Given the description of an element on the screen output the (x, y) to click on. 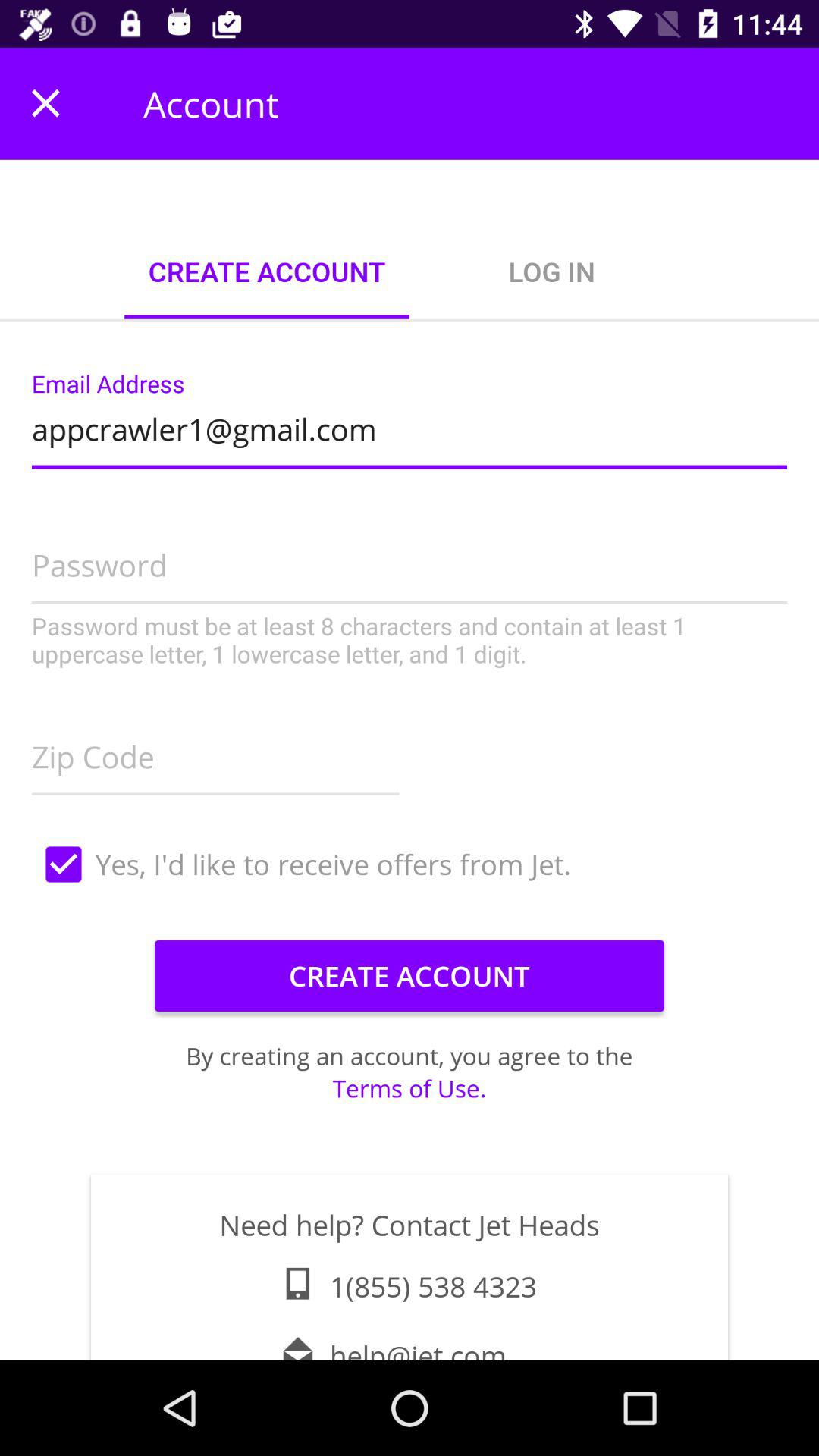
turn off the icon above need help contact (409, 1088)
